Given the description of an element on the screen output the (x, y) to click on. 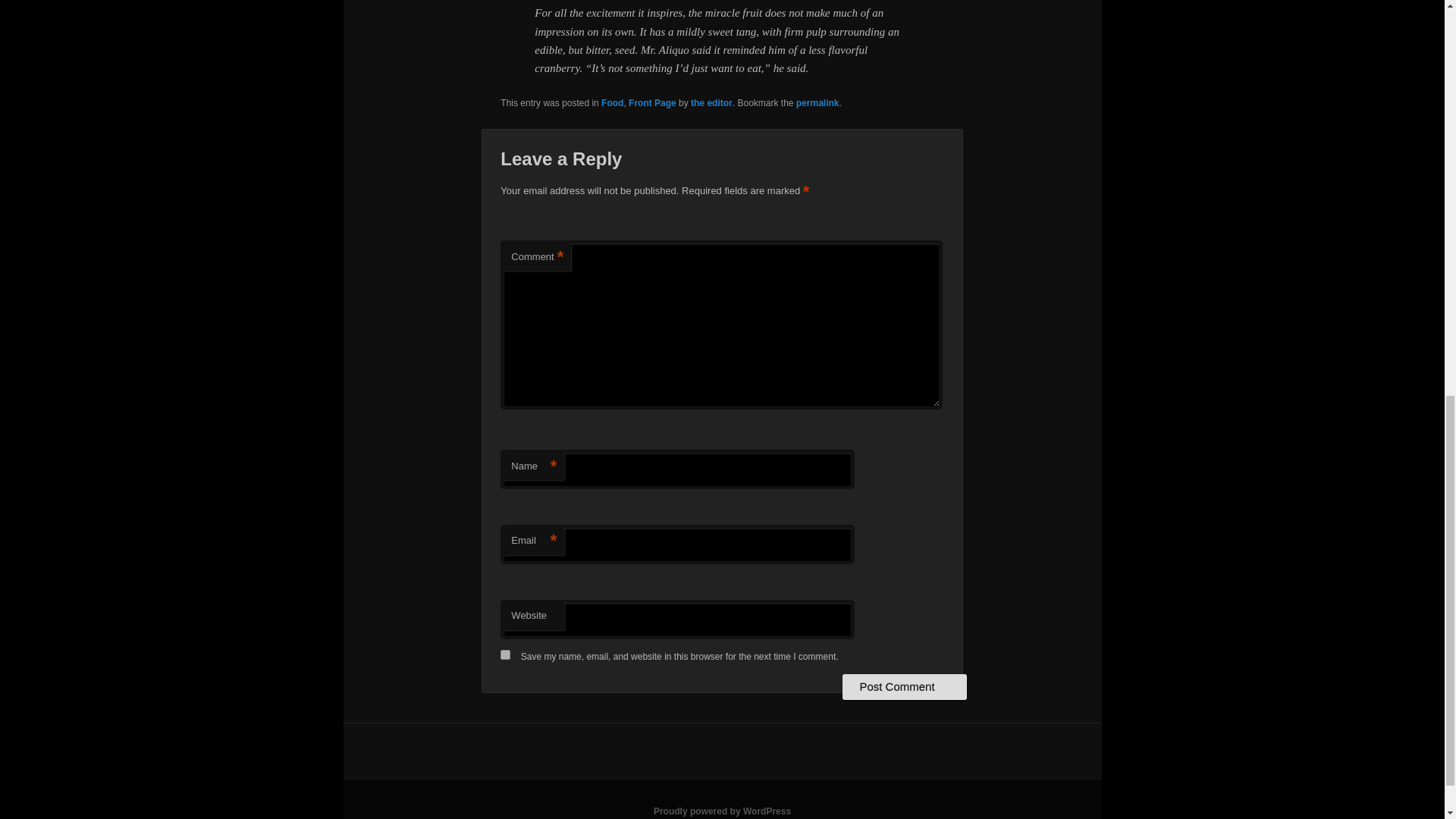
permalink (818, 102)
Front Page (652, 102)
Post Comment (904, 687)
Post Comment (904, 687)
yes (505, 655)
Proudly powered by WordPress (721, 810)
Permalink to I like my tastes buds the way they are (818, 102)
Semantic Personal Publishing Platform (721, 810)
Food (612, 102)
the editor (711, 102)
